Given the description of an element on the screen output the (x, y) to click on. 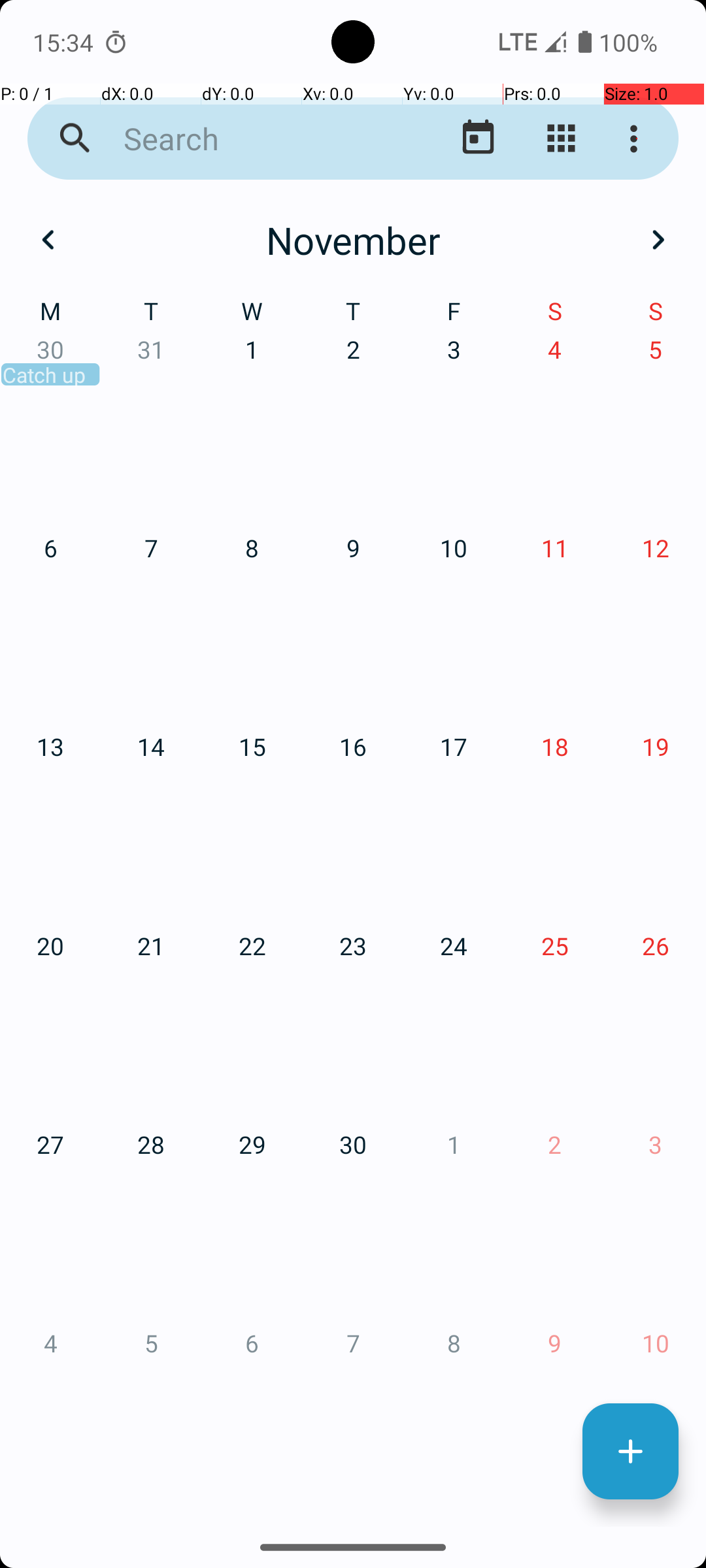
November Element type: android.widget.TextView (352, 239)
